Given the description of an element on the screen output the (x, y) to click on. 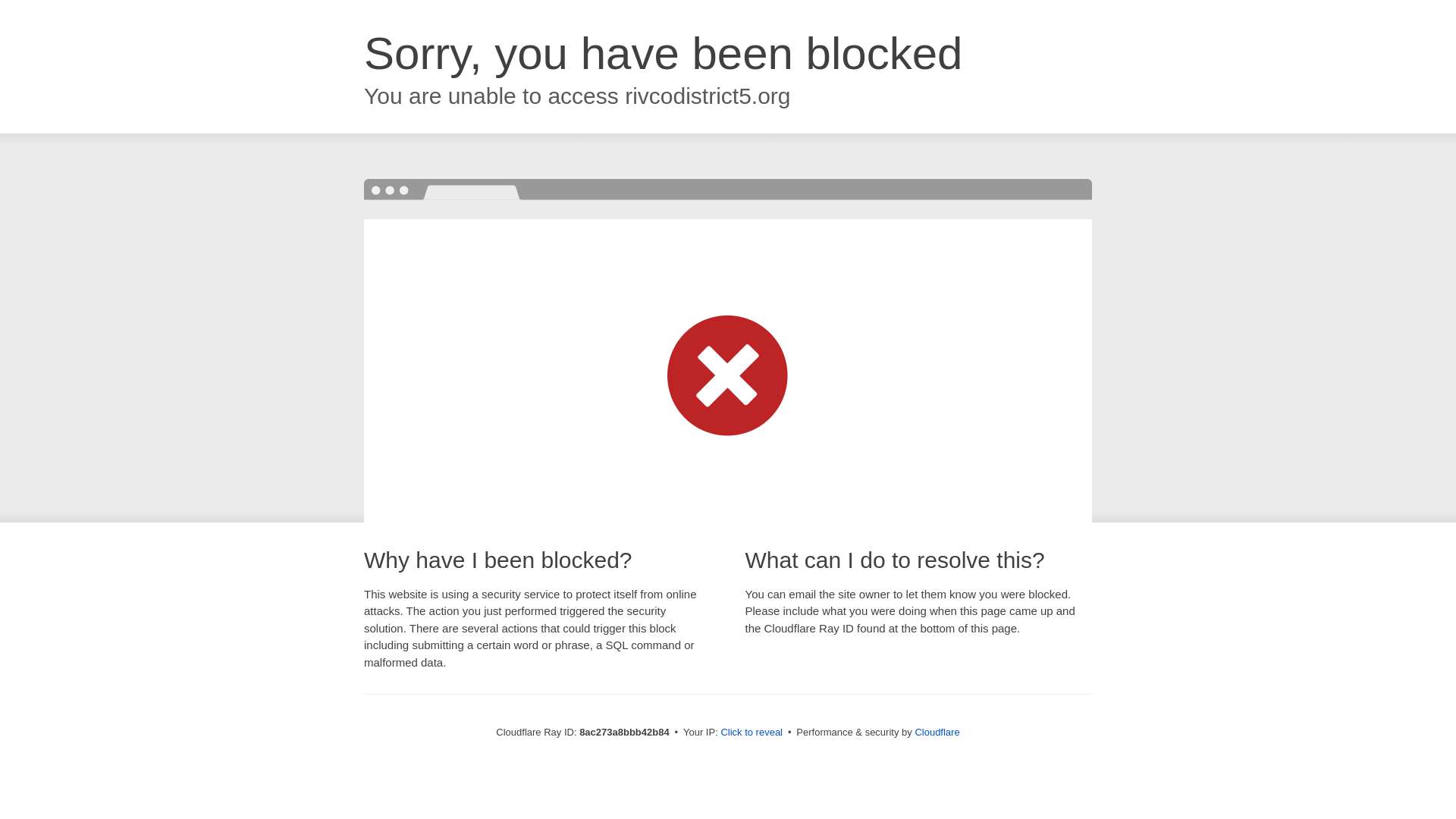
Cloudflare (936, 731)
Click to reveal (751, 732)
